Given the description of an element on the screen output the (x, y) to click on. 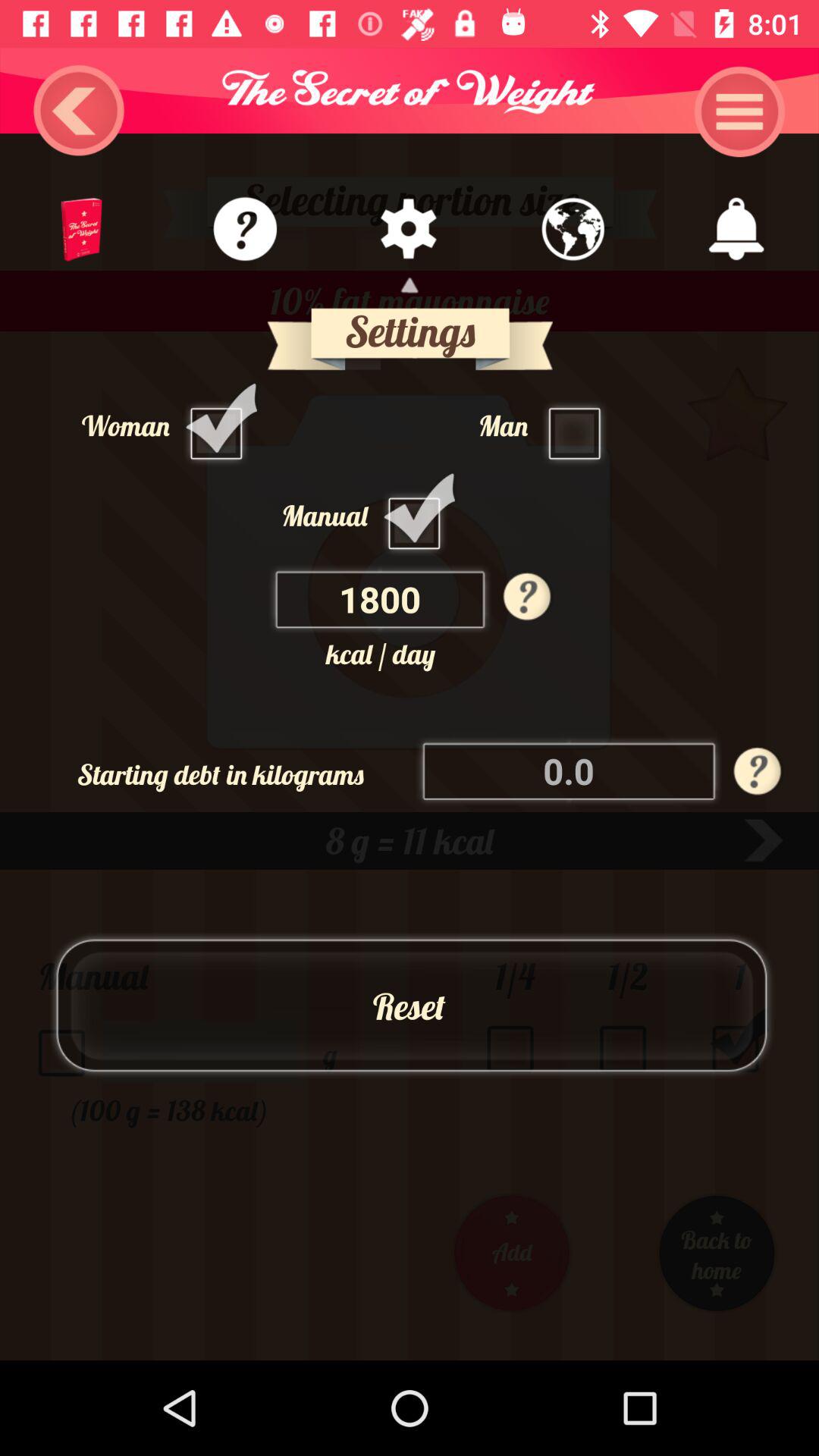
select your gender (220, 425)
